Given the description of an element on the screen output the (x, y) to click on. 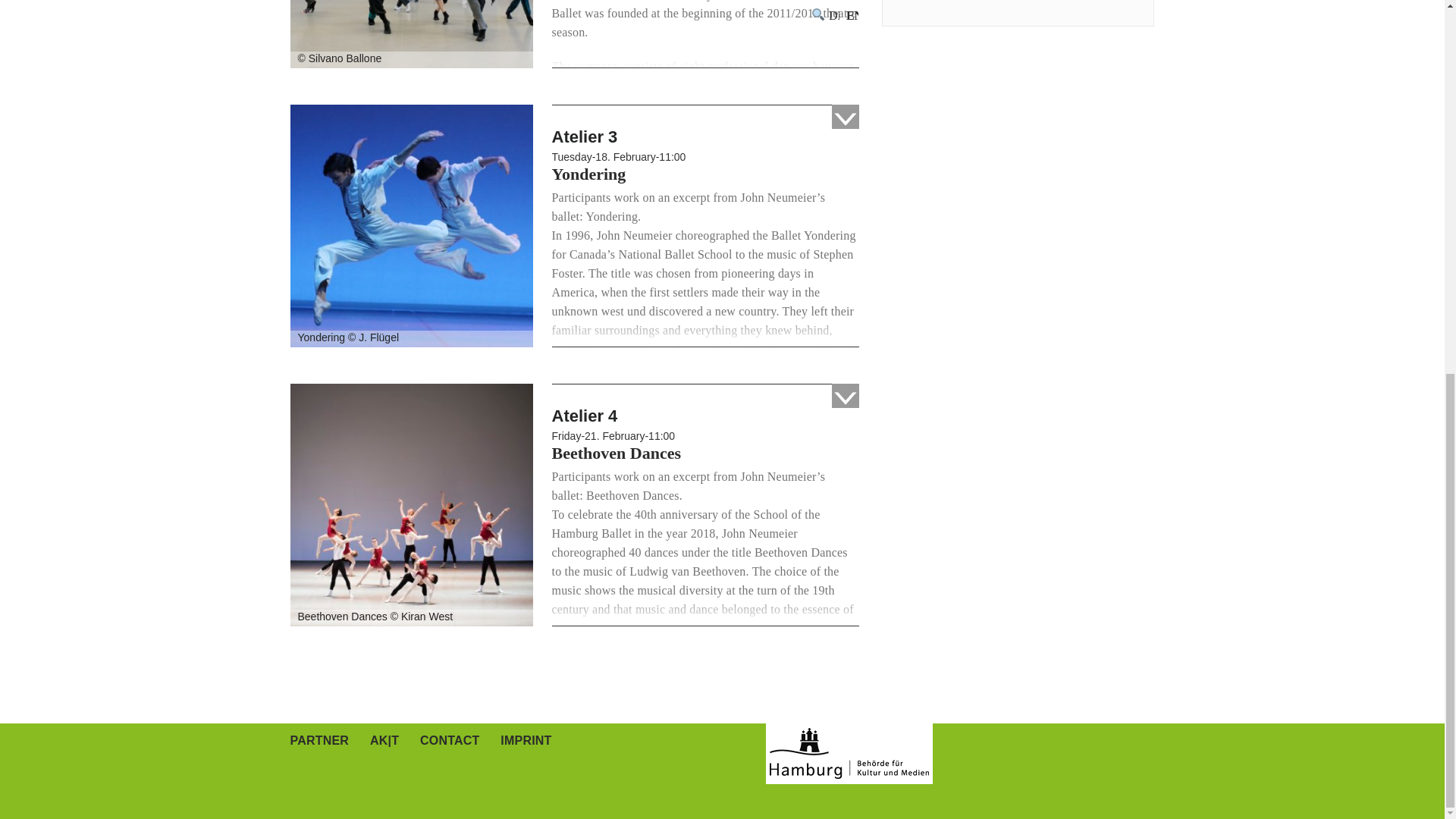
Atelier 4 (410, 503)
Atelier 3 (410, 225)
